Given the description of an element on the screen output the (x, y) to click on. 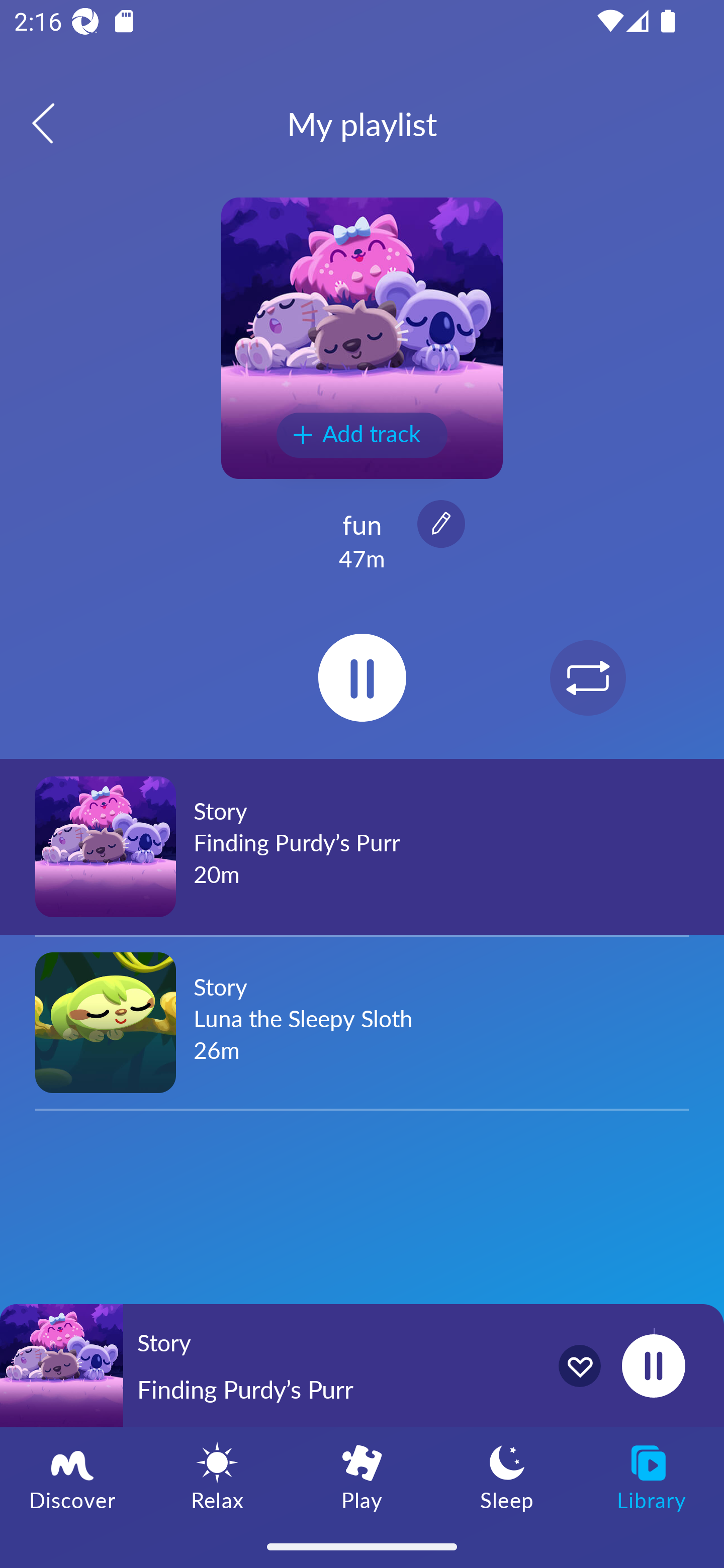
Add track (361, 434)
Story Finding Purdy’s Purr 20m (362, 846)
Story Luna the Sleepy Sloth 26m (362, 1022)
Story Finding Purdy’s Purr 0.0023937947 Pause (362, 1365)
0.0023937947 Pause (653, 1365)
Discover (72, 1475)
Relax (216, 1475)
Play (361, 1475)
Sleep (506, 1475)
